Given the description of an element on the screen output the (x, y) to click on. 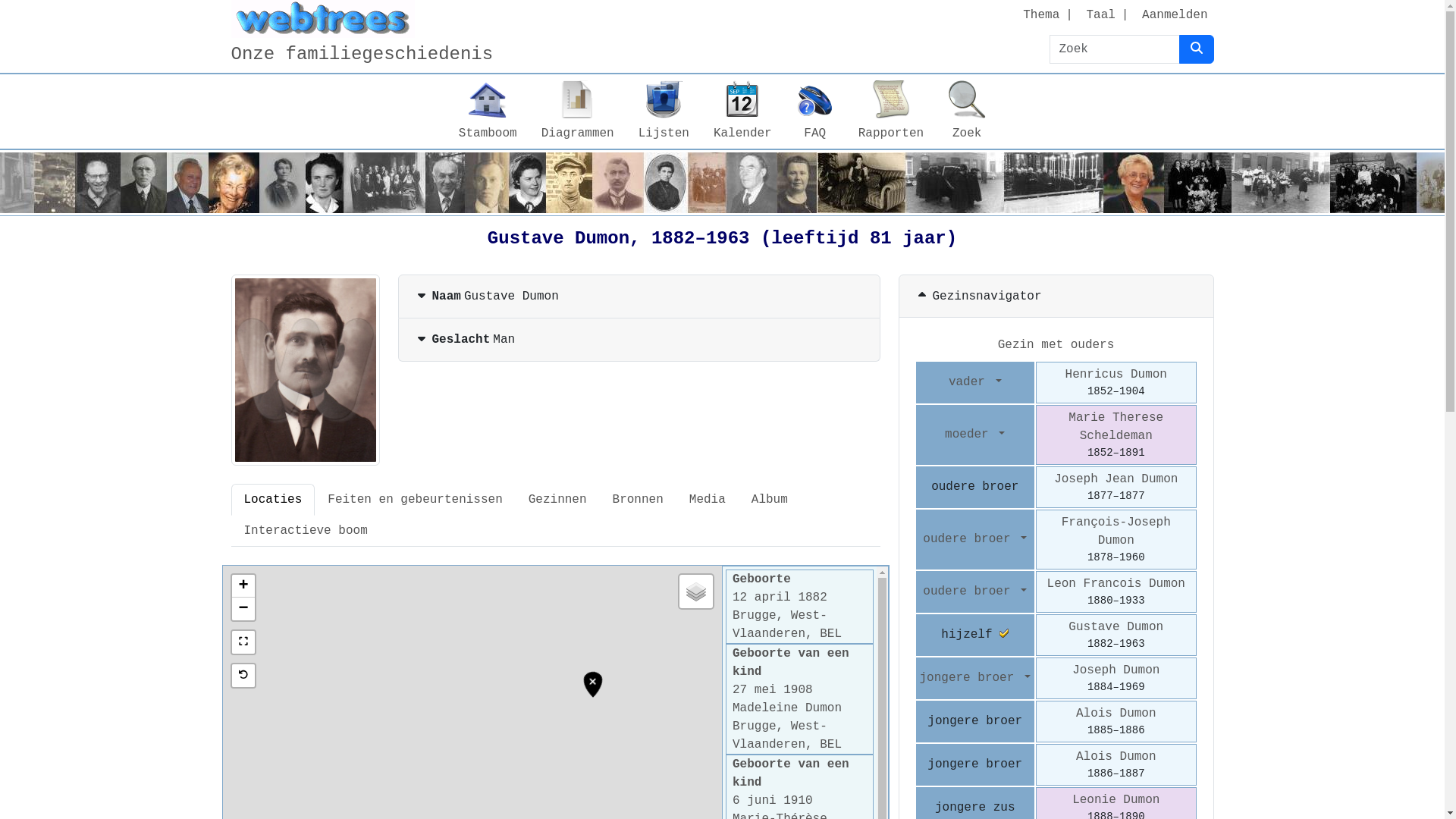
27 mei 1908 Element type: text (772, 689)
oudere broer Element type: text (974, 591)
Album Element type: text (769, 499)
+ Element type: text (243, 585)
vader Element type: text (974, 382)
Henricus Dumon Element type: text (1116, 374)
Joseph Jean Dumon Element type: text (1115, 479)
Feiten en gebeurtenissen Element type: text (414, 499)
Marie Therese Scheldeman Element type: text (1115, 426)
Thema Element type: text (1040, 15)
Kalender Element type: text (742, 111)
jongere broer Element type: text (974, 677)
Rapporten Element type: text (890, 111)
Alois Dumon Element type: text (1116, 713)
Aanmelden Element type: text (1174, 15)
Volledig scherm weergeven Element type: hover (242, 641)
Layers Element type: hover (695, 591)
Zoek Element type: text (966, 111)
Gezinsnavigator Element type: text (1056, 296)
Stamboom Element type: text (487, 111)
Gezinnen Element type: text (557, 499)
Gustave Dumon Element type: text (1115, 626)
FAQ Element type: text (815, 111)
Interactieve boom Element type: text (304, 530)
Lijsten Element type: text (663, 111)
Taal Element type: text (1099, 15)
Gezin met ouders Element type: text (1055, 344)
Madeleine Dumon Element type: text (786, 708)
oudere broer Element type: text (974, 539)
Diagrammen Element type: text (577, 111)
Leonie Dumon Element type: text (1115, 799)
Alois Dumon Element type: text (1116, 756)
Geslacht
Man Element type: text (638, 339)
Bronnen Element type: text (637, 499)
6 juni 1910 Element type: text (772, 800)
Joseph Dumon Element type: text (1115, 670)
Brugge, West-Vlaanderen, BEL Element type: text (786, 624)
moeder Element type: text (974, 434)
Naam
Gustave Dumon Element type: text (638, 296)
Media Element type: text (707, 499)
12 april 1882 Element type: text (779, 597)
Leon Francois Dumon Element type: text (1116, 583)
Locaties Element type: text (272, 499)
Plattegrond opnieuw laden Element type: hover (243, 675)
Brugge, West-Vlaanderen, BEL Element type: text (786, 735)
